Given the description of an element on the screen output the (x, y) to click on. 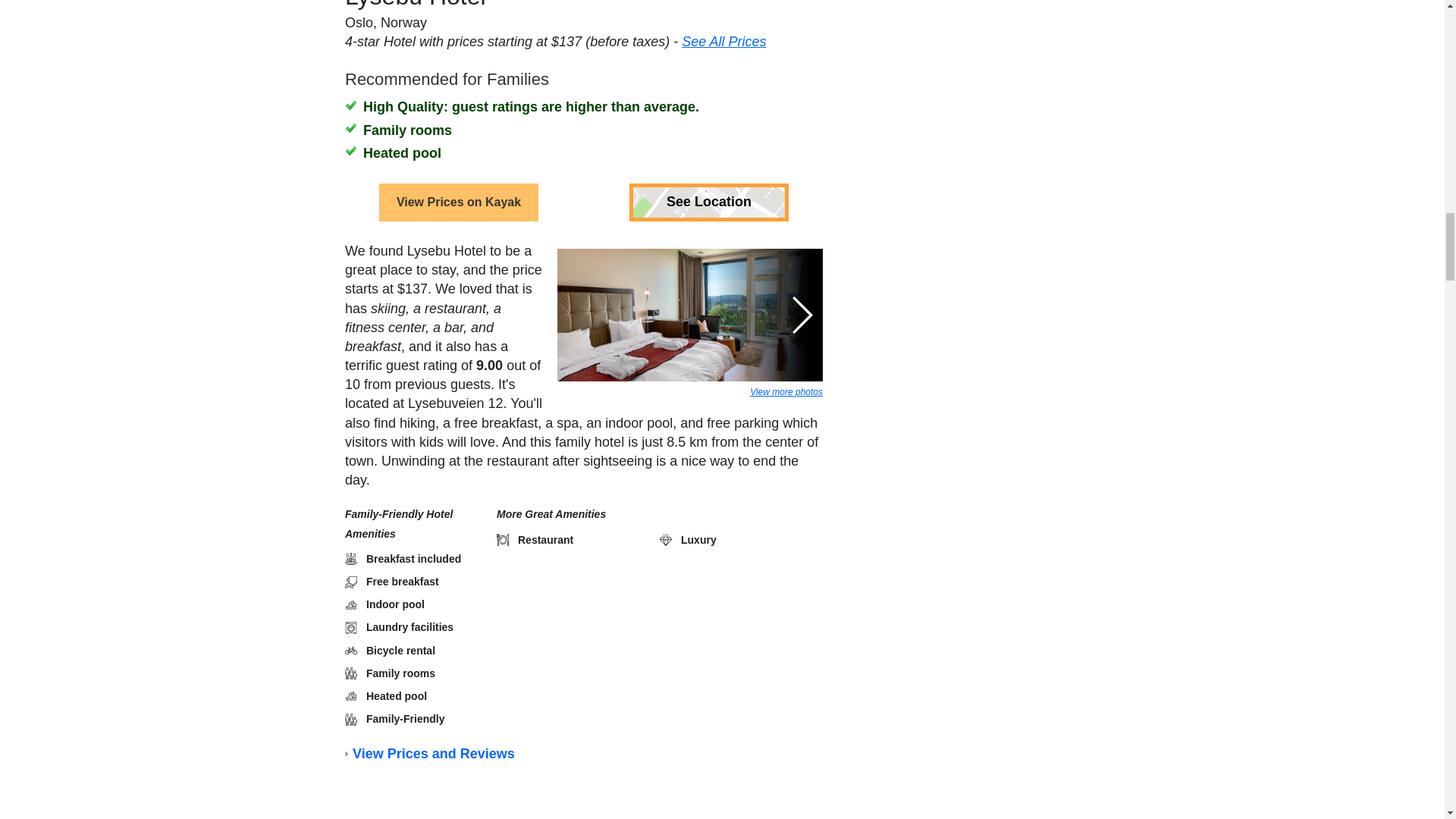
View Prices and Reviews (432, 739)
Voksenasen Hotell BW Signature Collection (579, 785)
View more photos (785, 339)
Lysebu Hotel (413, 1)
View Prices on Kayak (458, 149)
See Location (708, 149)
See All Prices (723, 803)
See All Prices (723, 7)
